Given the description of an element on the screen output the (x, y) to click on. 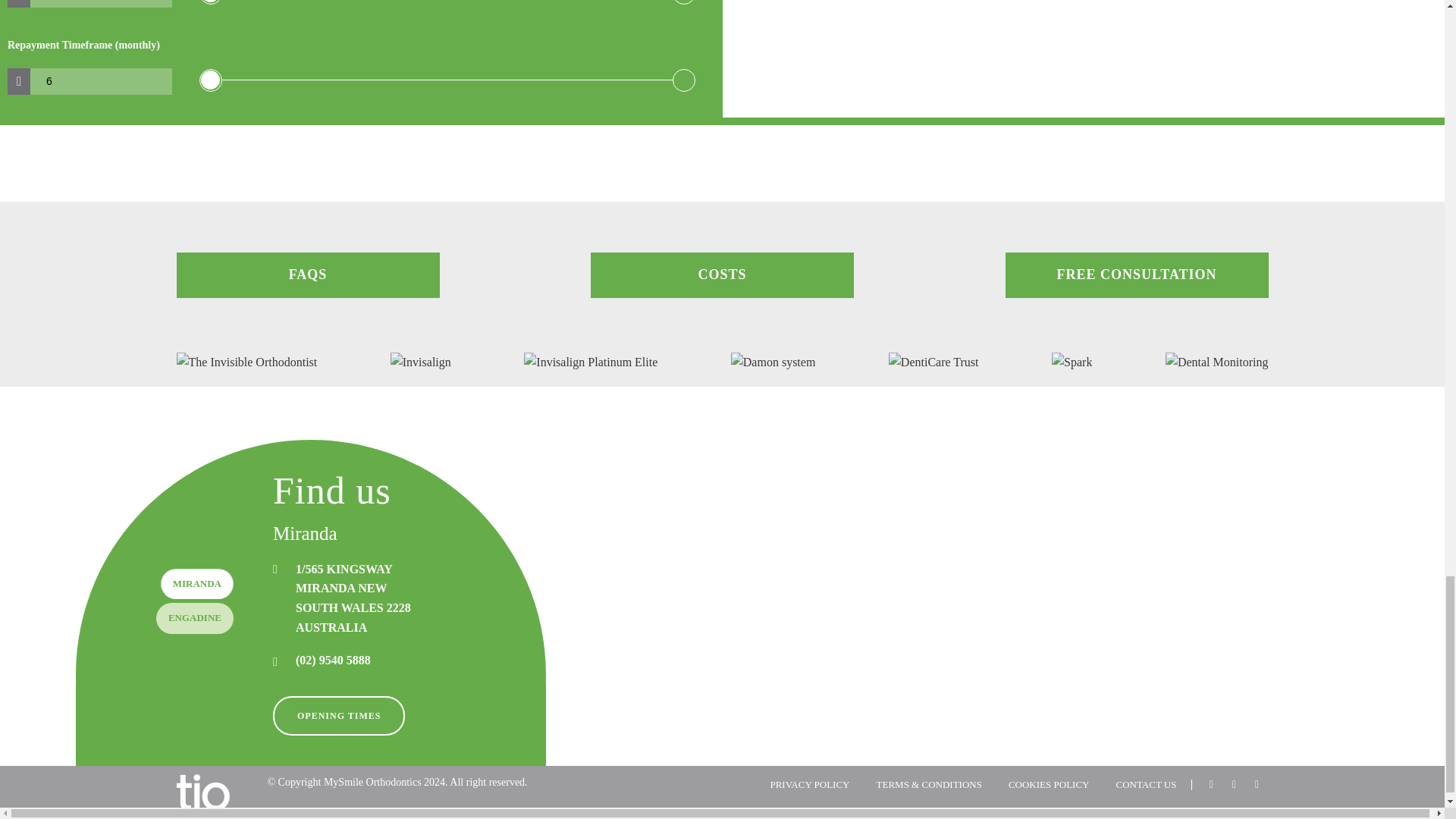
6 (94, 81)
1 (94, 3)
6 (447, 79)
